Given the description of an element on the screen output the (x, y) to click on. 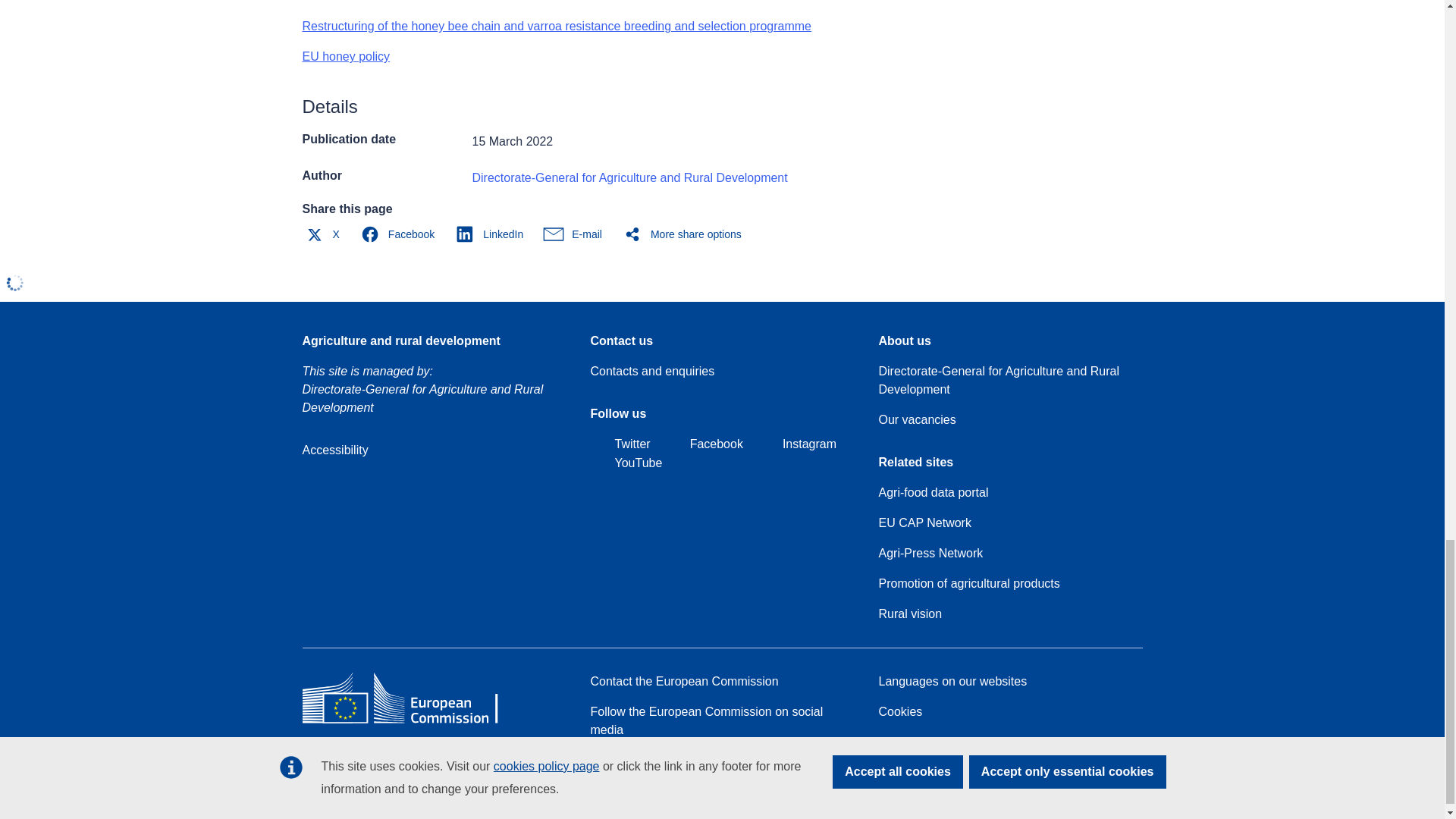
European Commission (411, 722)
